Given the description of an element on the screen output the (x, y) to click on. 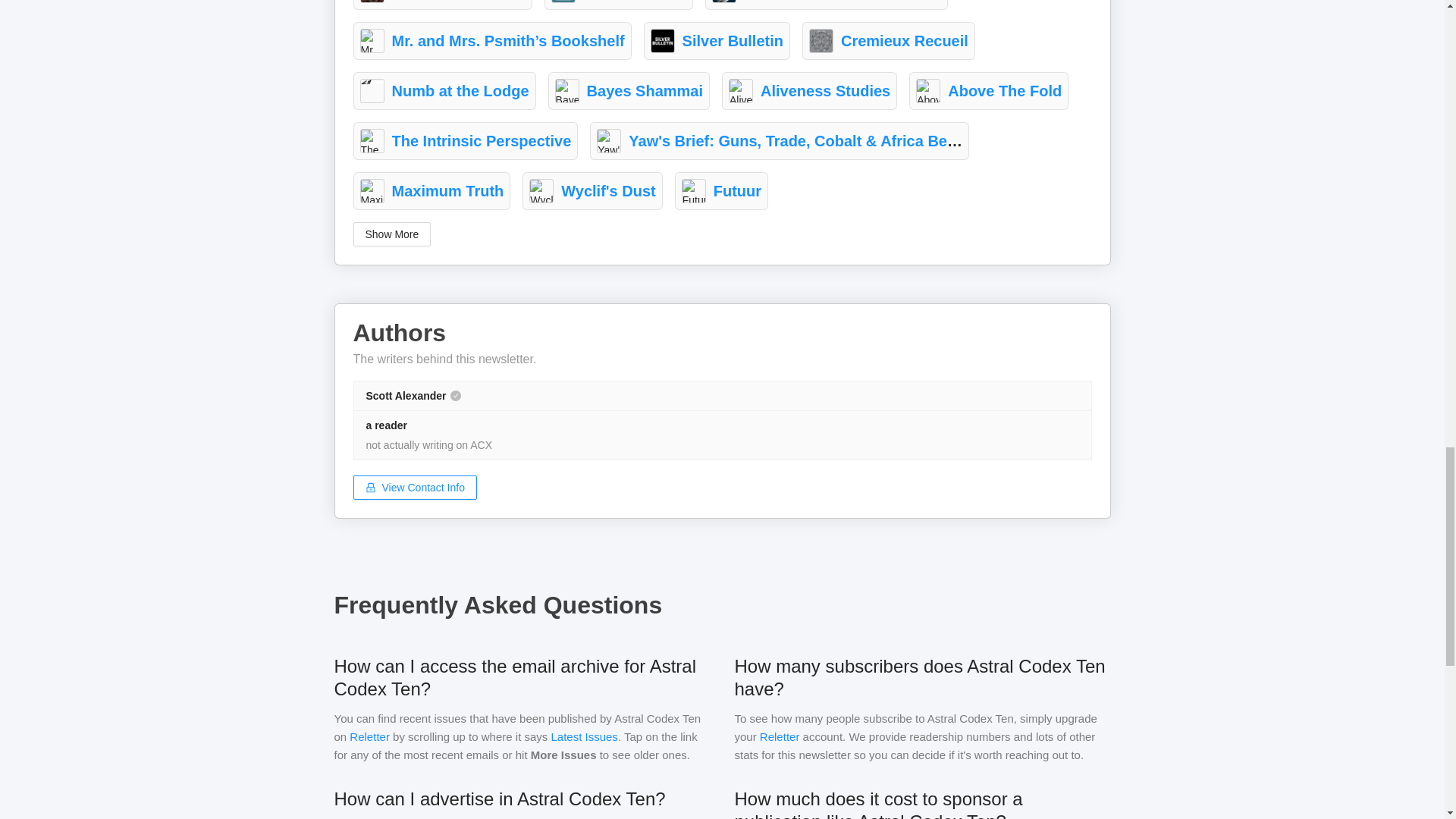
Silver Bulletin (732, 40)
Numb at the Lodge (459, 90)
Bayes Shammai (644, 90)
Cremieux Recueil (904, 40)
Aliveness Studies (824, 90)
